Given the description of an element on the screen output the (x, y) to click on. 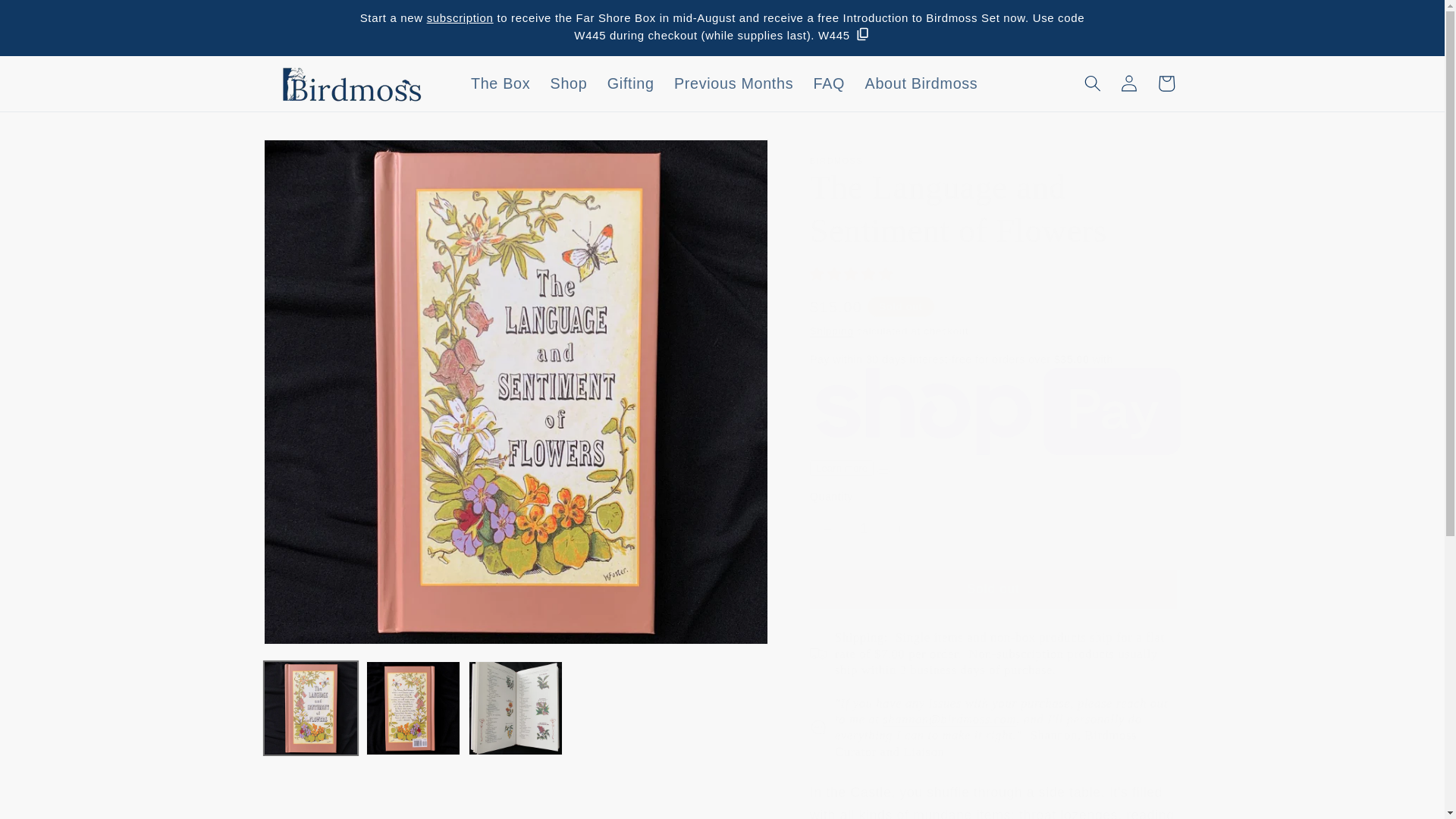
The Box (500, 83)
About Birdmoss (920, 83)
Log in (1128, 83)
Click to Copy to Clipboard (844, 32)
subscription (459, 17)
Birdmoss Box Monthly Subscription (459, 17)
Shop (568, 83)
W445 (844, 32)
Sold out (992, 589)
Shipping (831, 330)
